Given the description of an element on the screen output the (x, y) to click on. 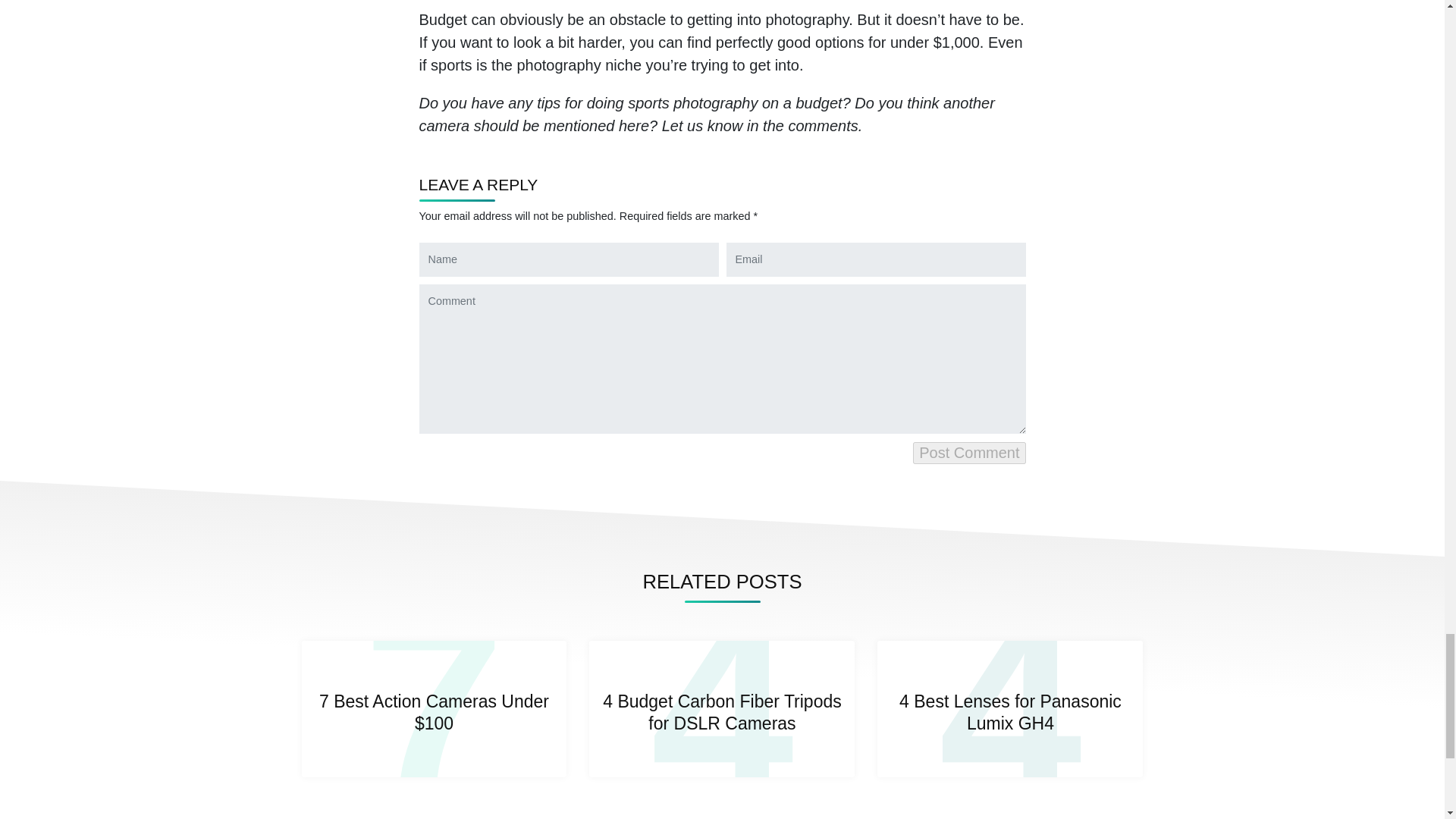
Post Comment (968, 453)
Post Comment (722, 708)
